Given the description of an element on the screen output the (x, y) to click on. 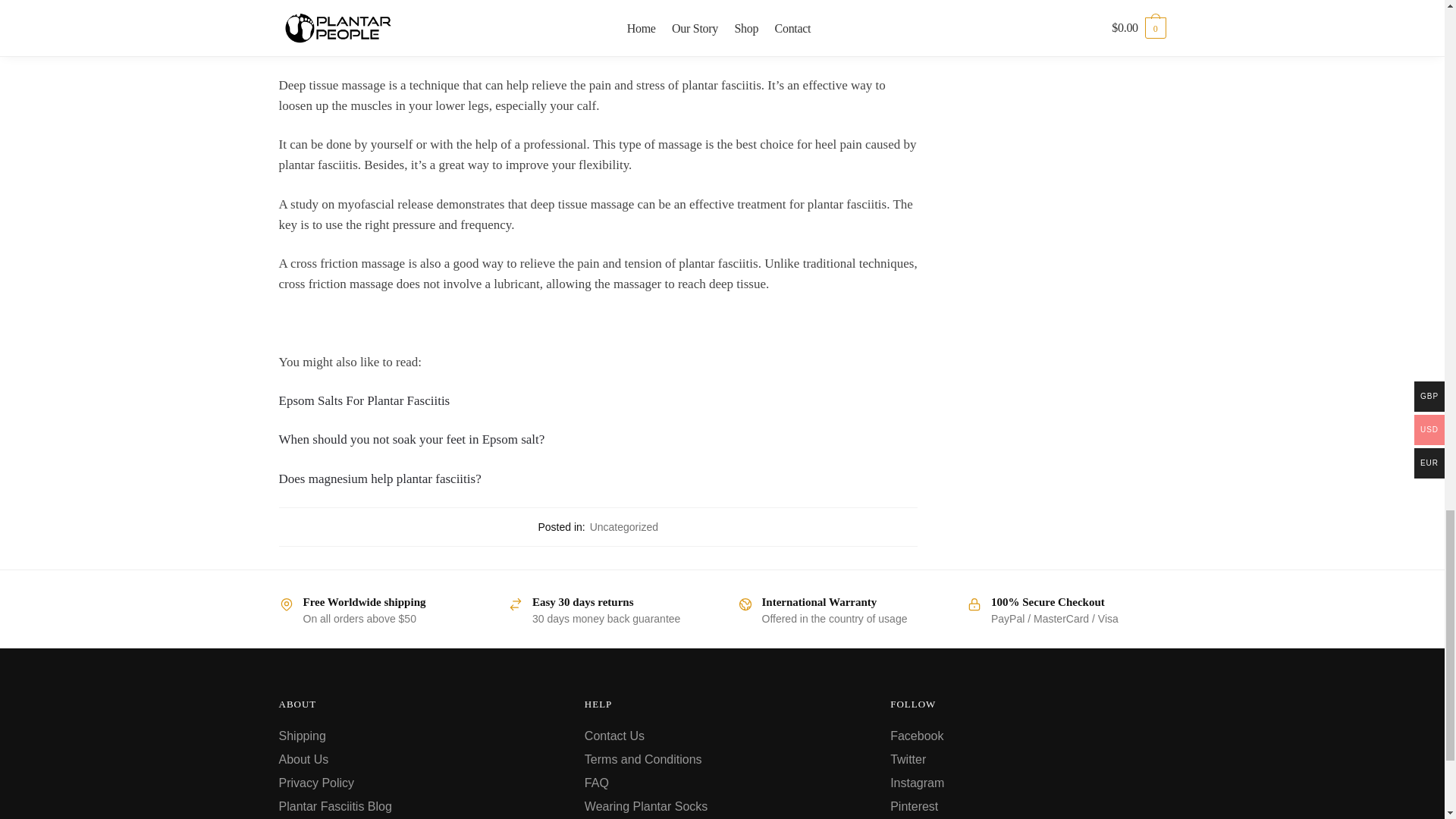
Uncategorized (623, 526)
Shipping (302, 735)
Plantar Fasciitis Blog (335, 806)
Facebook (916, 735)
Terms and Conditions (643, 758)
Wearing Plantar Socks (646, 806)
Pinterest (913, 806)
Epsom Salts For Plantar Fasciitis (364, 400)
When should you not soak your feet in Epsom salt? (411, 439)
Does magnesium help plantar fasciitis? (380, 478)
Instagram (916, 782)
Privacy Policy (317, 782)
Contact Us (615, 735)
Twitter (907, 758)
FAQ (596, 782)
